Given the description of an element on the screen output the (x, y) to click on. 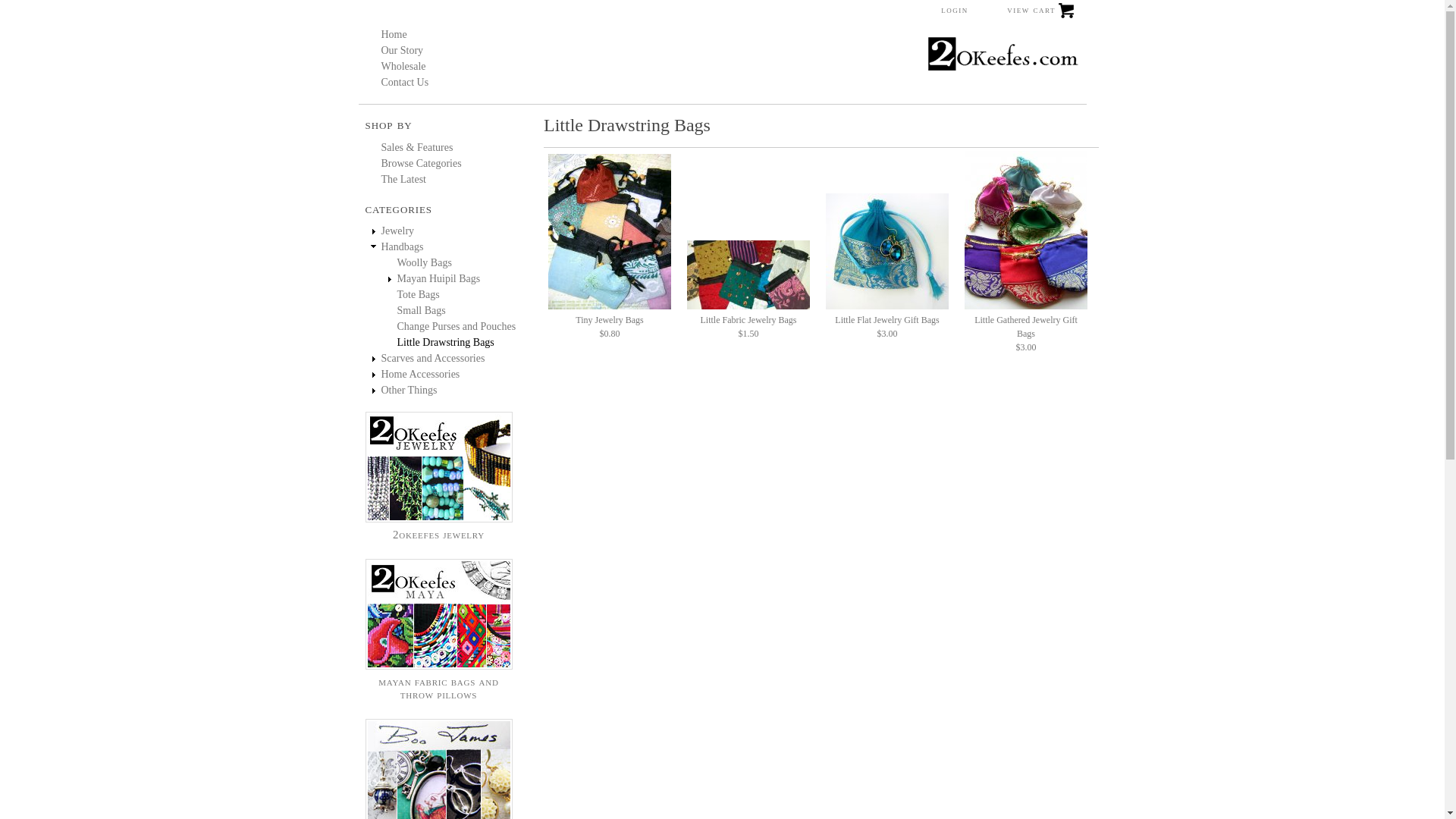
mayan fabric bags and throw pillows Element type: text (438, 681)
Little Flat Jewelry Gift Bags Element type: hover (886, 251)
Small Bags Element type: text (421, 310)
Wholesale Element type: text (402, 66)
Change Purses and Pouches Element type: text (456, 326)
Sales & Features Element type: text (416, 147)
Woolly Bags Element type: text (424, 262)
Little Fabric Jewelry Bags Element type: hover (748, 274)
The Latest Element type: text (402, 179)
Browse Categories Element type: text (420, 163)
Tote Bags Element type: text (418, 294)
Little Fabric Jewelry Bags
$1.50 Element type: text (748, 320)
Mayan Huipil Bags Element type: text (438, 278)
Little Gathered Jewelry Gift Bags
$3.00 Element type: text (1025, 327)
Contact Us Element type: text (404, 81)
Little Drawstring Bags Element type: text (445, 342)
Home Accessories Element type: text (419, 373)
Handbags Element type: text (401, 246)
Jewelry Element type: text (397, 230)
Our Story Element type: text (401, 50)
Tiny Jewelry Bags
$0.80 Element type: text (609, 320)
login Element type: text (954, 9)
2okeefes jewelry Element type: text (438, 527)
Little Flat Jewelry Gift Bags
$3.00 Element type: text (886, 320)
Home Element type: hover (1004, 68)
Little Gathered Jewelry Gift Bags Element type: hover (1025, 229)
Scarves and Accessories Element type: text (432, 358)
Tiny Jewelry Bags Element type: hover (609, 231)
Other Things Element type: text (408, 389)
view cart Element type: text (1039, 15)
Home Element type: text (393, 34)
